Given the description of an element on the screen output the (x, y) to click on. 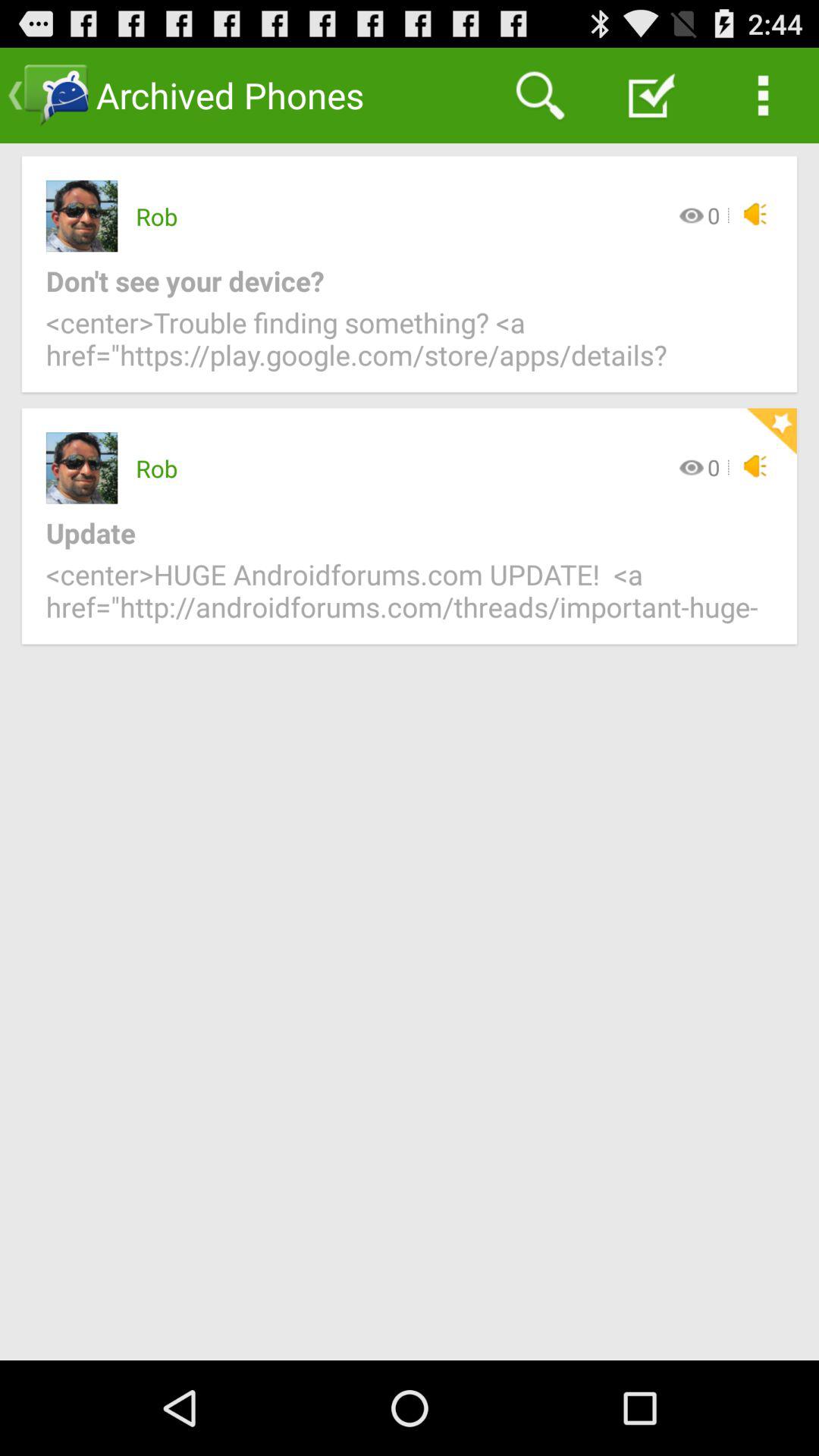
tap the app above the 0 icon (651, 95)
